Given the description of an element on the screen output the (x, y) to click on. 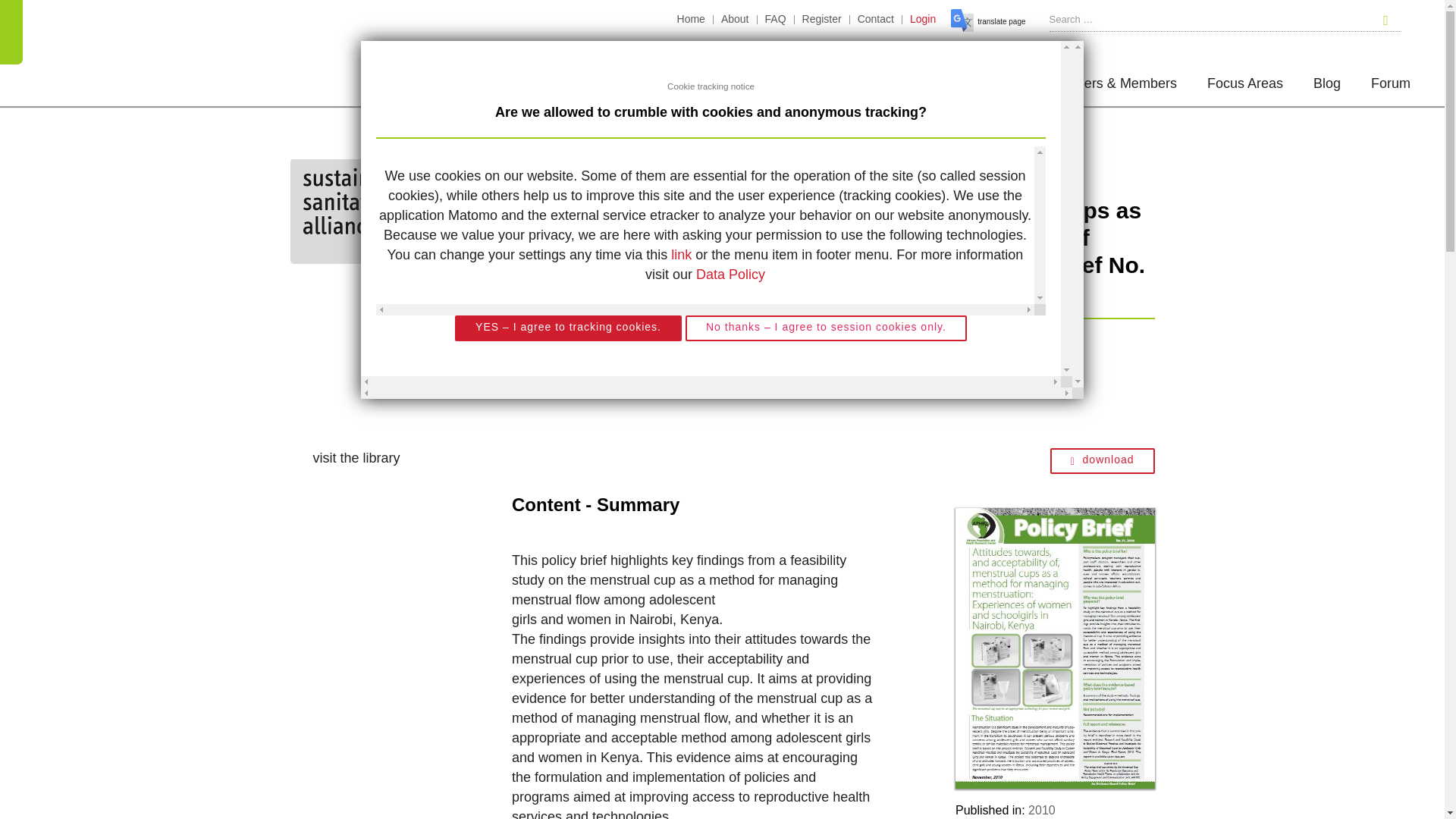
Knowledge hub (635, 168)
Blog (1327, 86)
home (359, 210)
About (735, 19)
Register (822, 19)
Knowledge Hub (973, 86)
Home (691, 19)
Resources and publications (782, 168)
Data Policy (730, 273)
Forum (1390, 86)
